Given the description of an element on the screen output the (x, y) to click on. 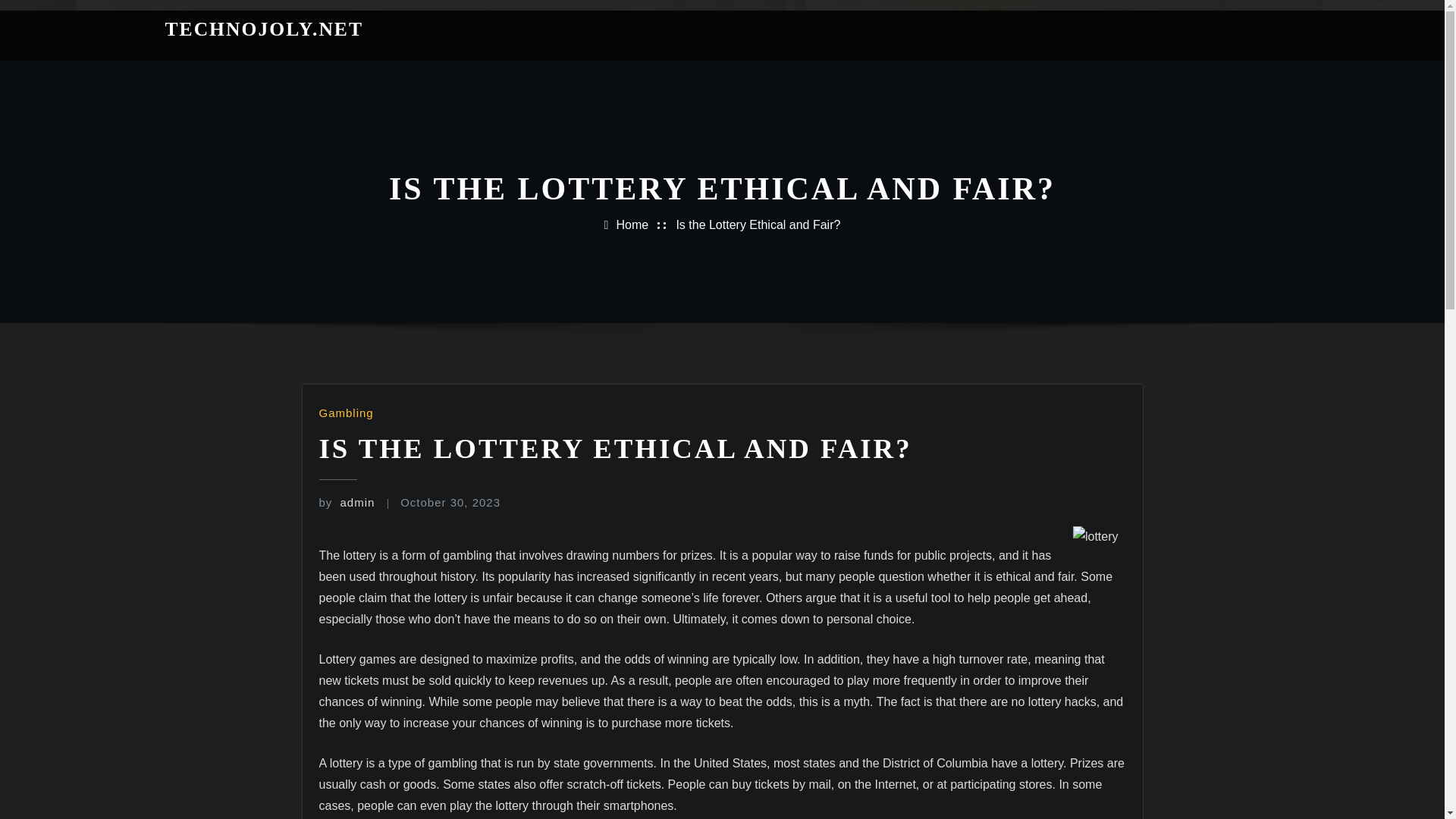
Home (631, 224)
by admin (346, 502)
October 30, 2023 (450, 502)
TECHNOJOLY.NET (264, 29)
Gambling (345, 412)
Is the Lottery Ethical and Fair? (757, 224)
